Given the description of an element on the screen output the (x, y) to click on. 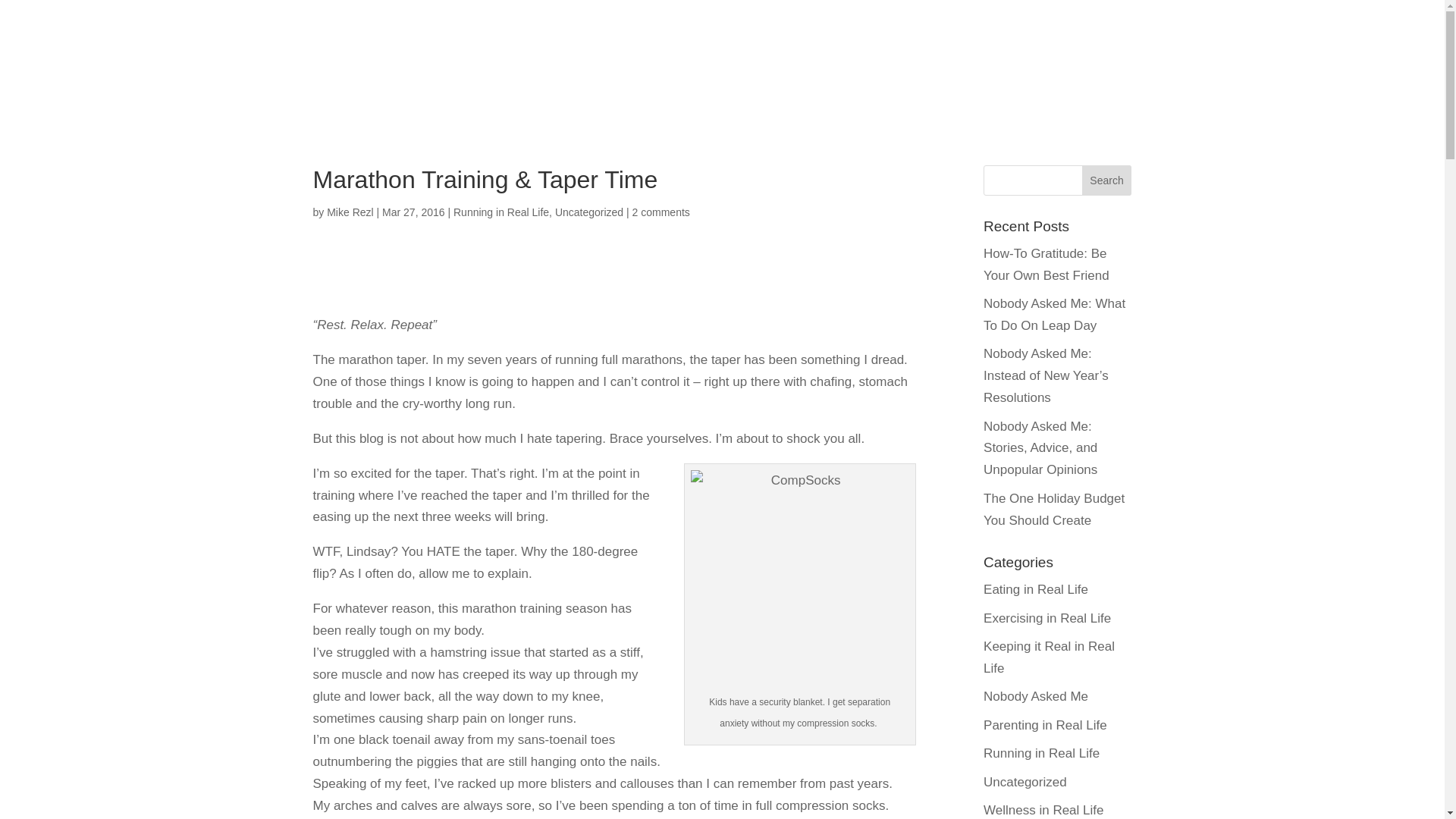
Mike Rezl (349, 212)
Uncategorized (588, 212)
Posts by Mike Rezl (349, 212)
Nobody Asked Me: What To Do On Leap Day (1054, 314)
Search (1106, 180)
Exercising in Real Life (1047, 617)
Running in Real Life (500, 212)
Nobody Asked Me: Stories, Advice, and Unpopular Opinions (1040, 448)
How-To Gratitude: Be Your Own Best Friend (1046, 264)
Nobody Asked Me (1035, 696)
2 comments (660, 212)
